Given the description of an element on the screen output the (x, y) to click on. 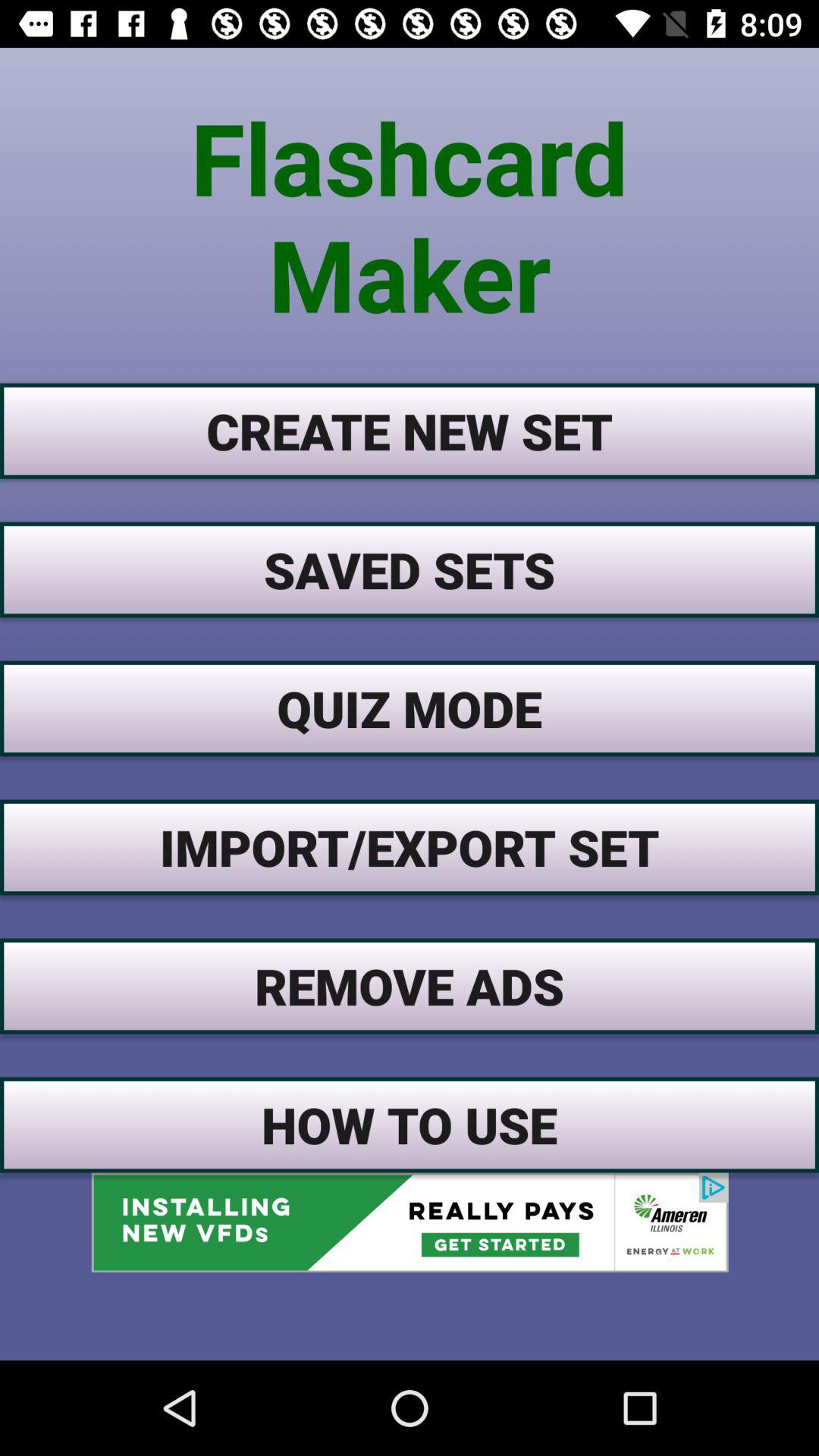
advertisement page (409, 1222)
